Given the description of an element on the screen output the (x, y) to click on. 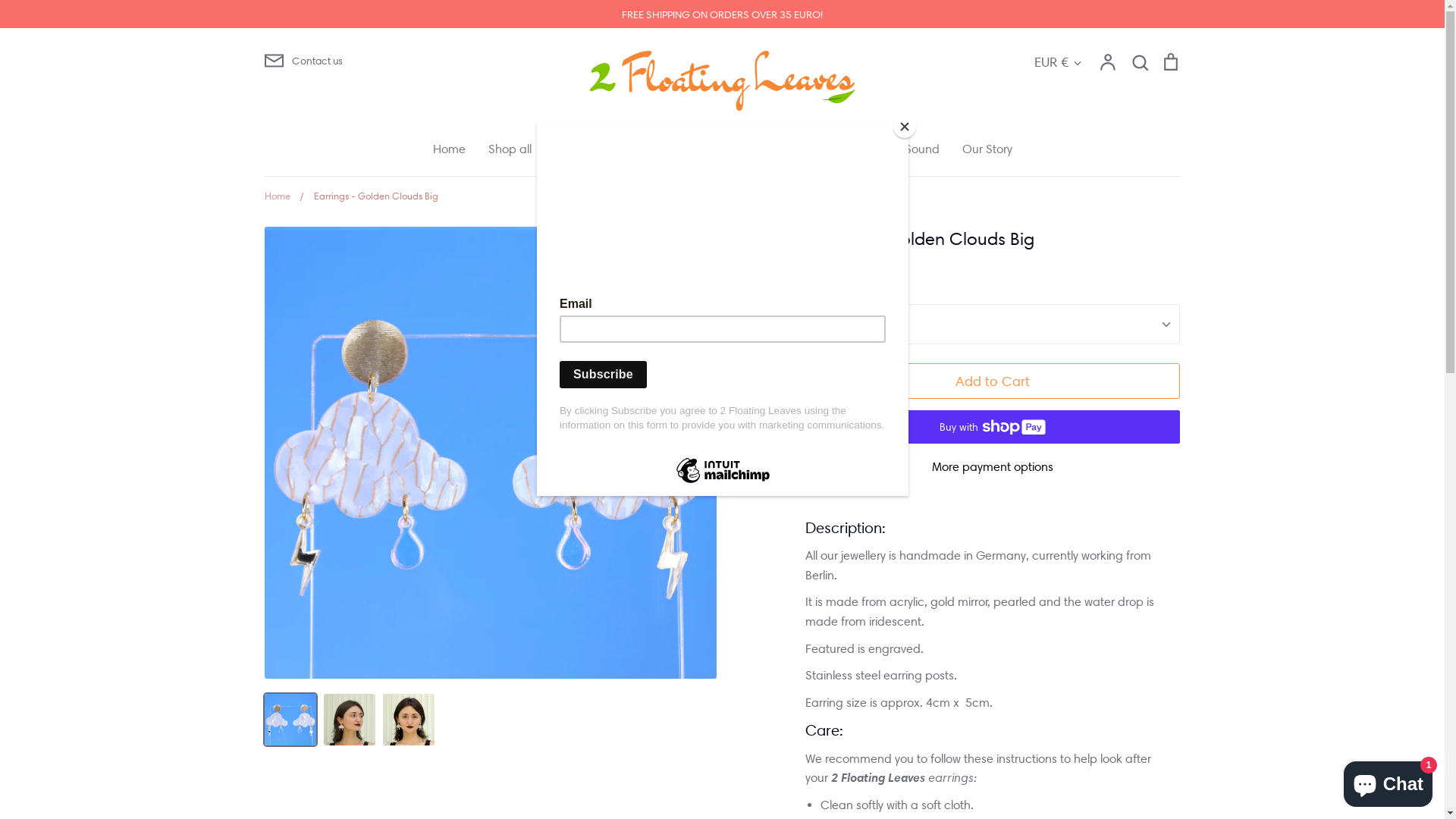
Illustrations Element type: text (665, 148)
More payment options Element type: text (992, 467)
Our Story Element type: text (986, 148)
Home Element type: text (448, 148)
Home Element type: text (276, 195)
Collections Element type: text (582, 148)
Search Element type: text (1139, 61)
B2B | Retailers page Element type: text (773, 148)
Contact us Element type: text (414, 60)
Amoenus Sound Element type: text (894, 148)
Shop all Element type: text (509, 148)
/ Earrings - Golden Clouds Big Element type: text (365, 195)
Add to Cart Element type: text (992, 380)
Cart Element type: text (1169, 61)
Shopify online store chat Element type: hover (1388, 780)
Account Element type: text (1107, 61)
